Given the description of an element on the screen output the (x, y) to click on. 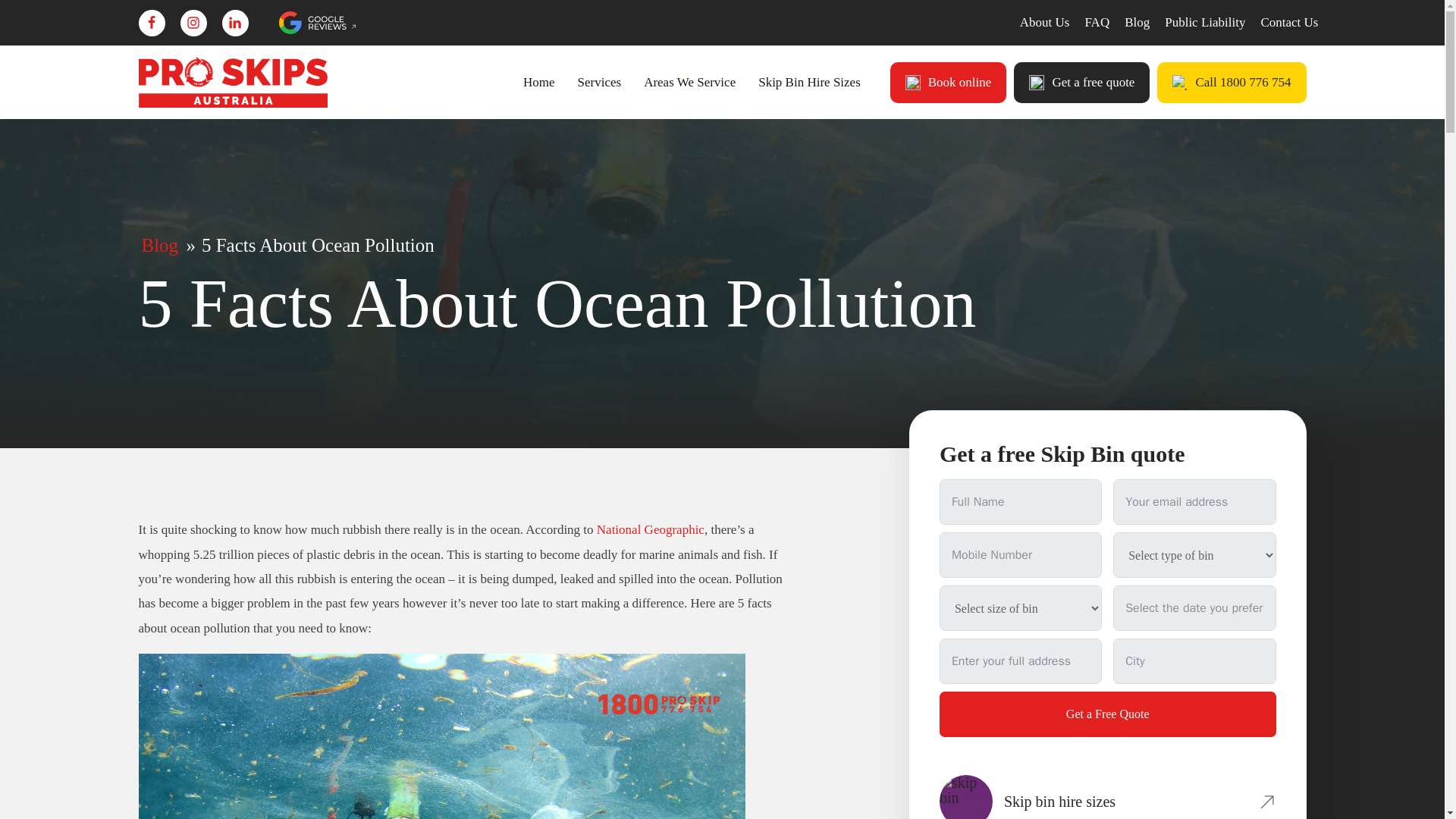
Services (599, 82)
Skip bin hire sizes (1107, 796)
Contact Us (1288, 22)
Breadcrumb link to Blog (159, 245)
Get a Free Quote (1107, 714)
National Geographic (650, 529)
Call 1800 776 754 (1231, 82)
Get a free quote (1081, 82)
Skip Bin Hire Sizes (809, 82)
FAQ (1096, 22)
